Given the description of an element on the screen output the (x, y) to click on. 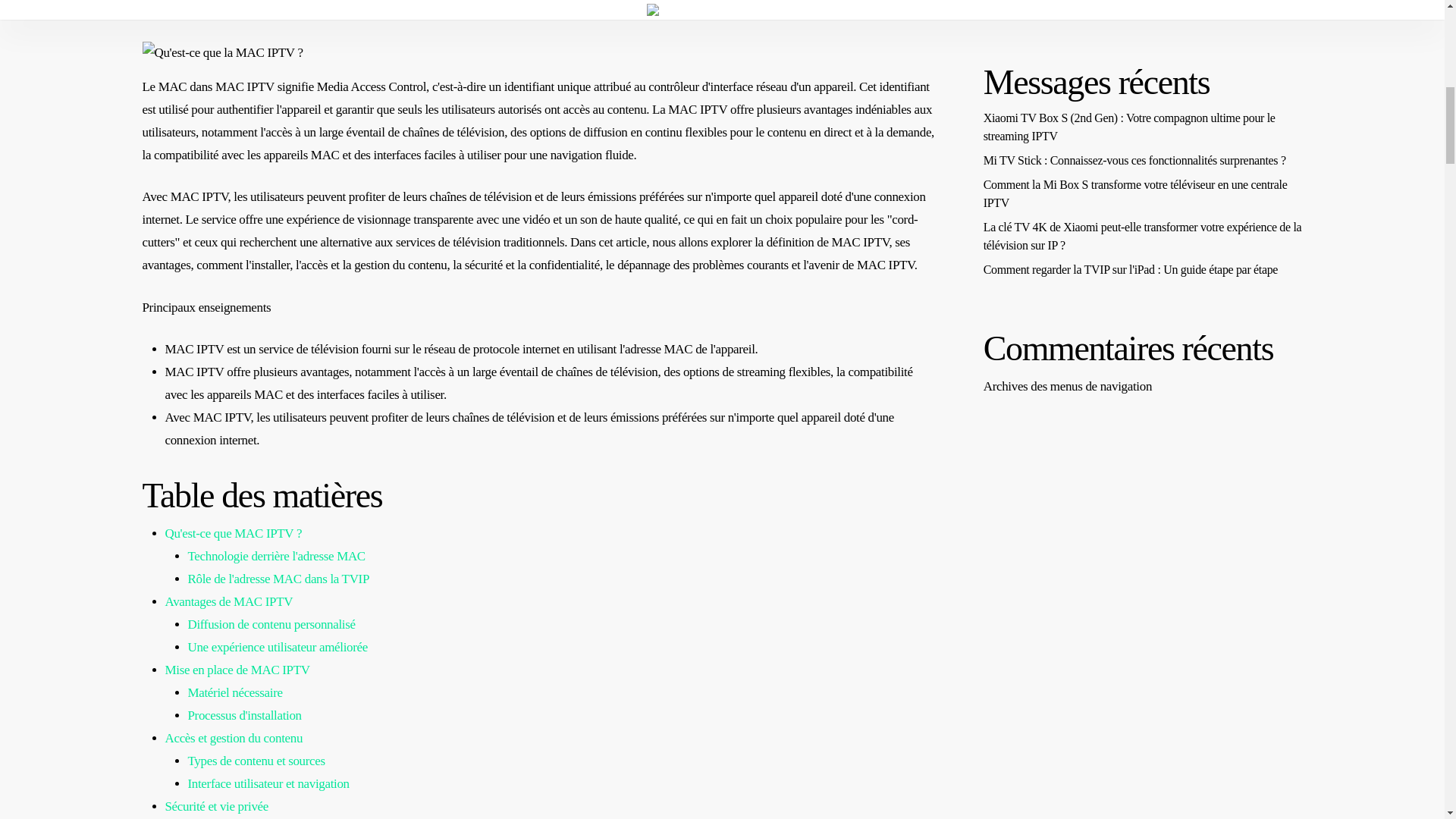
Interface utilisateur et navigation (268, 783)
Types de contenu et sources (255, 760)
Mise en place de MAC IPTV (237, 669)
Qu'est-ce que MAC IPTV ? (233, 533)
Avantages de MAC IPTV (229, 601)
LIEN (556, 10)
Processus d'installation (244, 715)
